Given the description of an element on the screen output the (x, y) to click on. 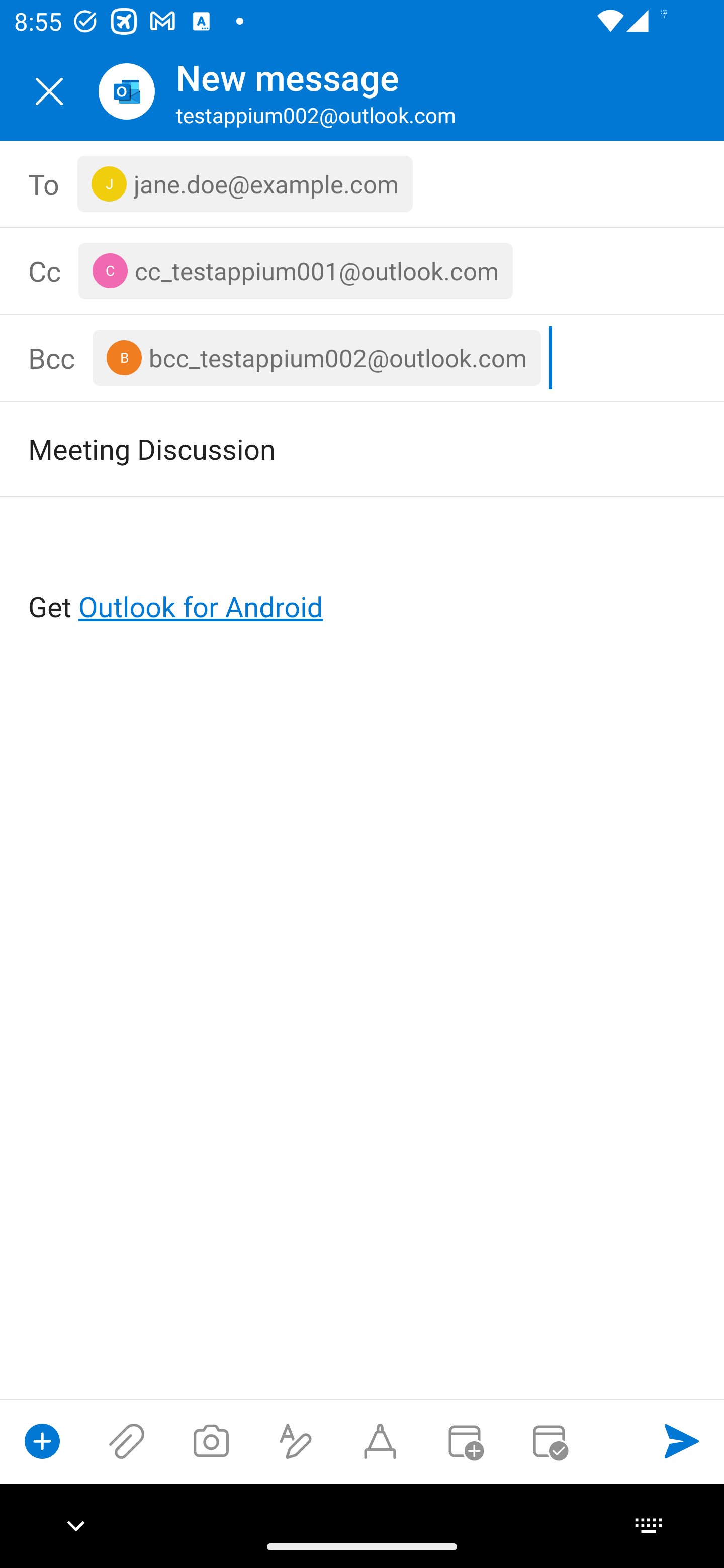
Close (49, 91)
To, 1 recipient <jane.doe@example.com> (362, 184)
Cc, 1 recipient <cc_testappium001@outlook.com> (384, 270)
Bcc, 1 recipient <bcc_testappium002@outlook.com> (392, 358)
Meeting Discussion (333, 448)


Get Outlook for Android (363, 573)
Show compose options (42, 1440)
Attach files (126, 1440)
Take a photo (210, 1440)
Show formatting options (295, 1440)
Start Ink compose (380, 1440)
Convert to event (464, 1440)
Send availability (548, 1440)
Send (681, 1440)
